Given the description of an element on the screen output the (x, y) to click on. 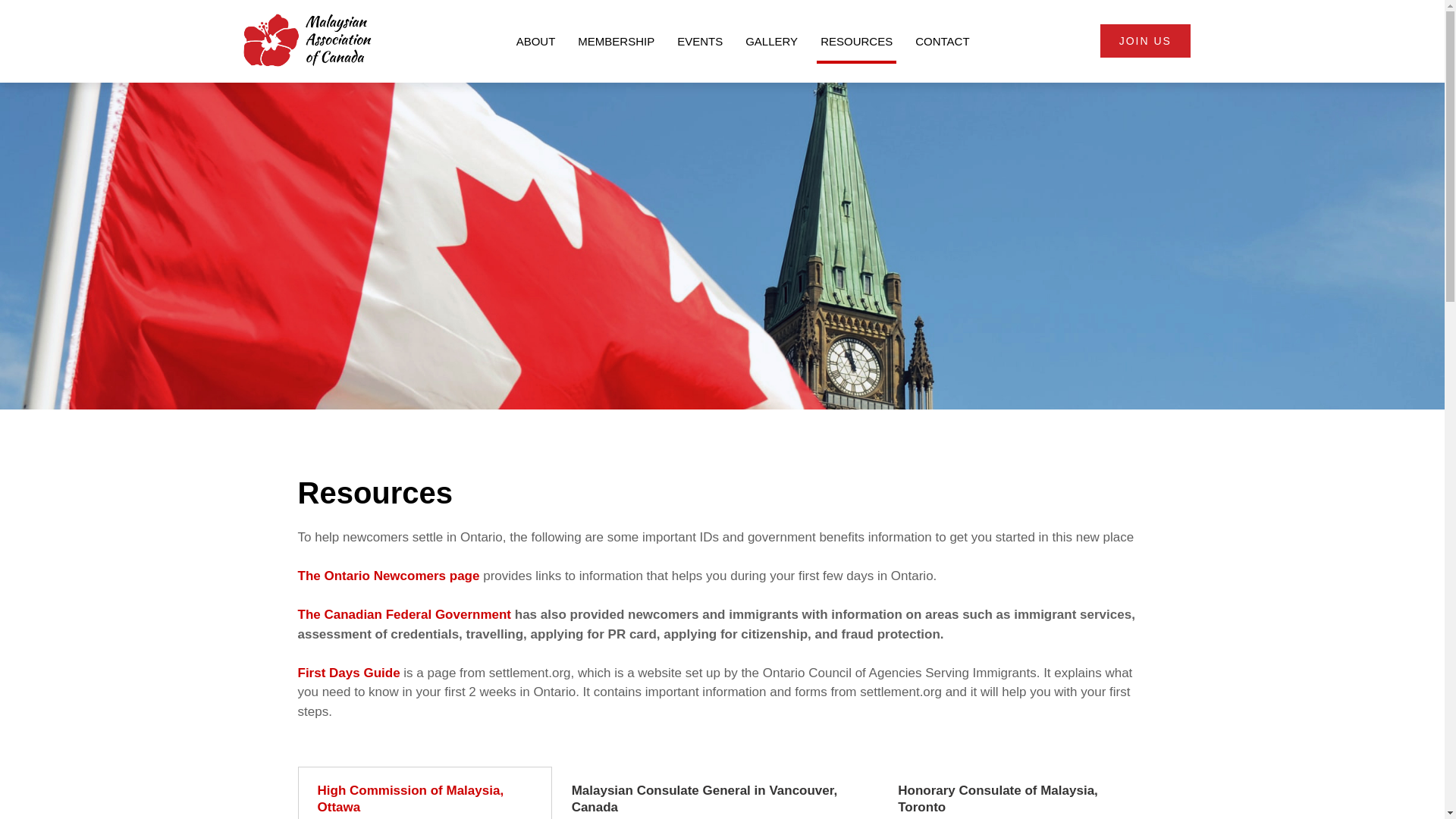
MEMBERSHIP (615, 41)
ABOUT (535, 41)
The (308, 575)
EVENTS (699, 41)
CONTACT (941, 41)
The Canadian Federal Government (405, 614)
GALLERY (771, 41)
RESOURCES (856, 41)
Ontario Newcomers page (401, 575)
First Days Guide (347, 672)
JOIN US (1145, 40)
